Given the description of an element on the screen output the (x, y) to click on. 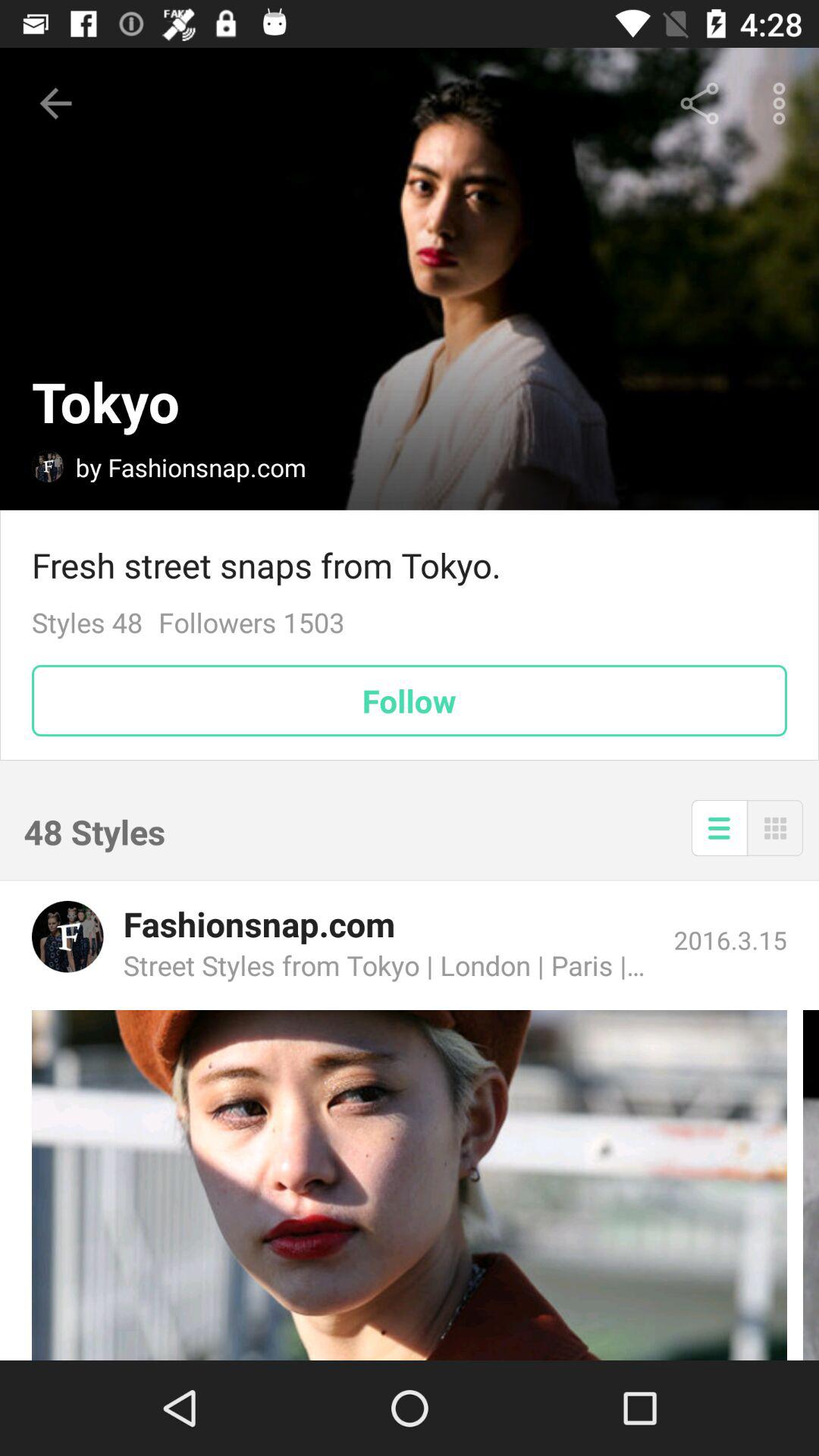
turn off the icon below styles 48 (409, 700)
